Given the description of an element on the screen output the (x, y) to click on. 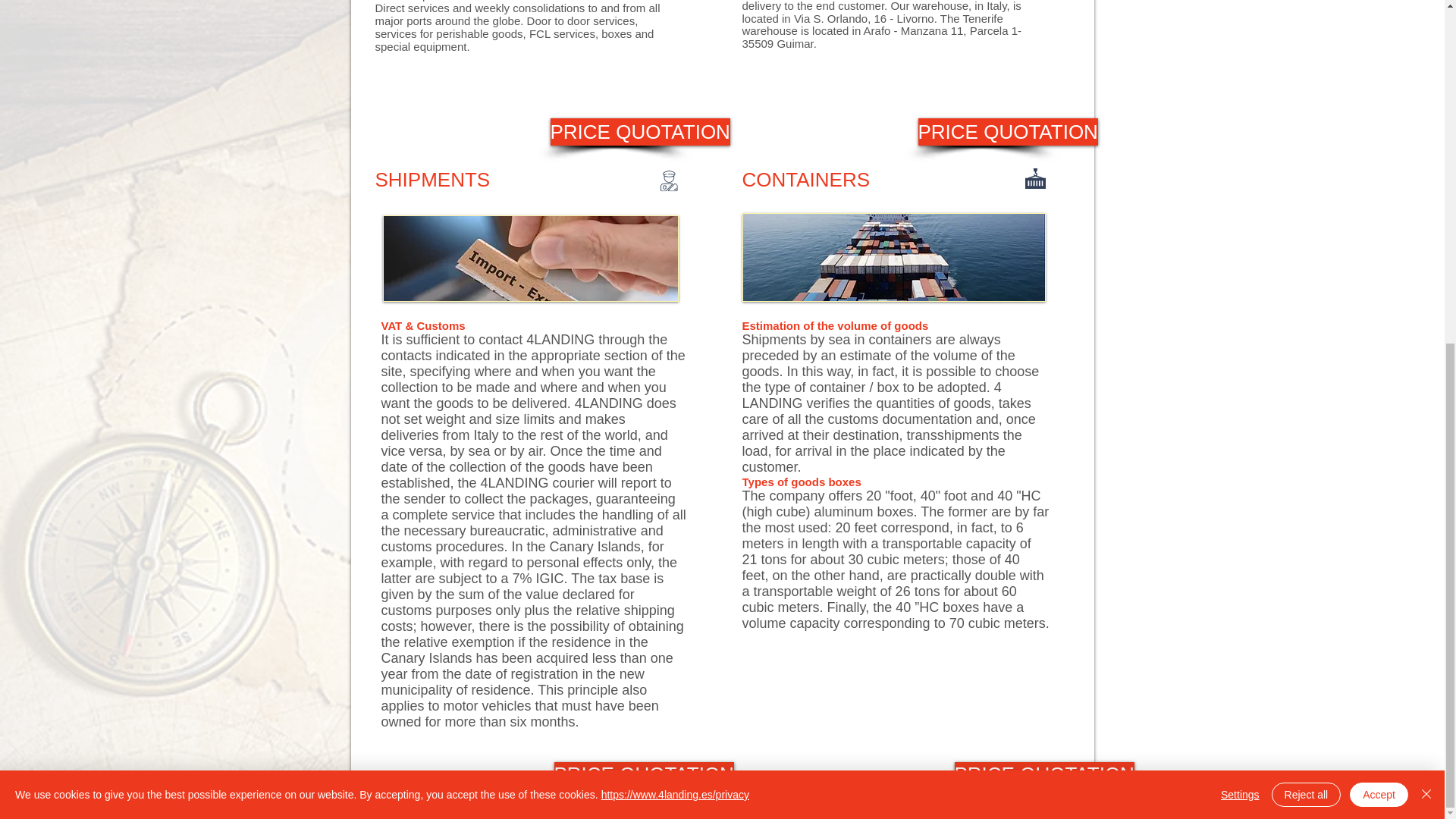
PRICE QUOTATION (1043, 775)
PRICE QUOTATION (640, 131)
Accept (1378, 209)
PRICE QUOTATION (643, 775)
Reject all (1305, 209)
import-export3.jpg (529, 258)
PRICE QUOTATION (1007, 131)
cont.mare.jpg (893, 257)
